Given the description of an element on the screen output the (x, y) to click on. 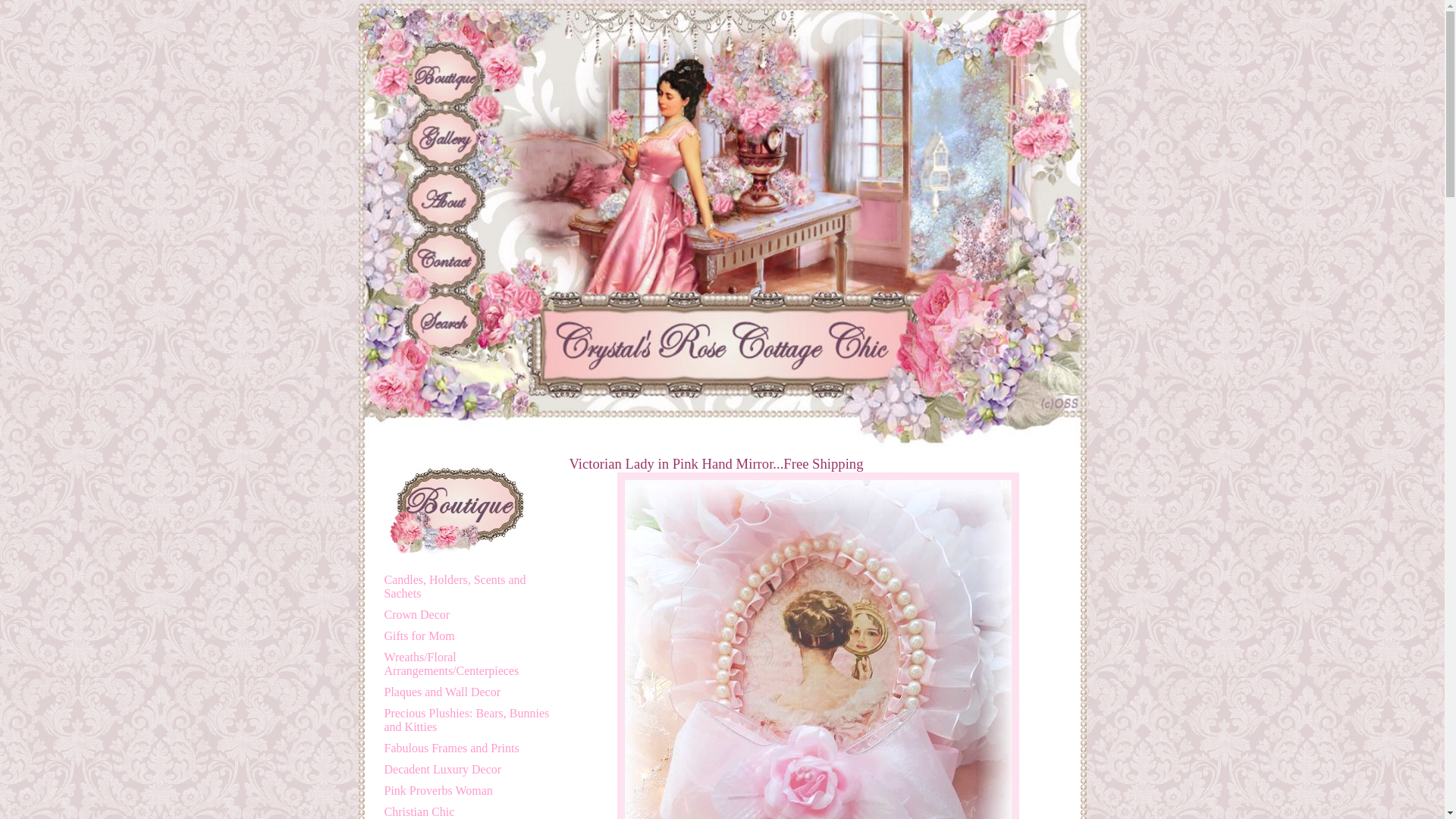
Precious Plushies: Bears, Bunnies and Kitties (467, 719)
Decadent Luxury Decor (442, 769)
Gifts for Mom (419, 635)
Pink Proverbs Woman (438, 790)
Candles, Holders, Scents and Sachets (467, 586)
Crown Decor (416, 614)
Fabulous Frames and Prints (451, 748)
Plaques and Wall Decor (441, 692)
Christian Chic (419, 812)
